Given the description of an element on the screen output the (x, y) to click on. 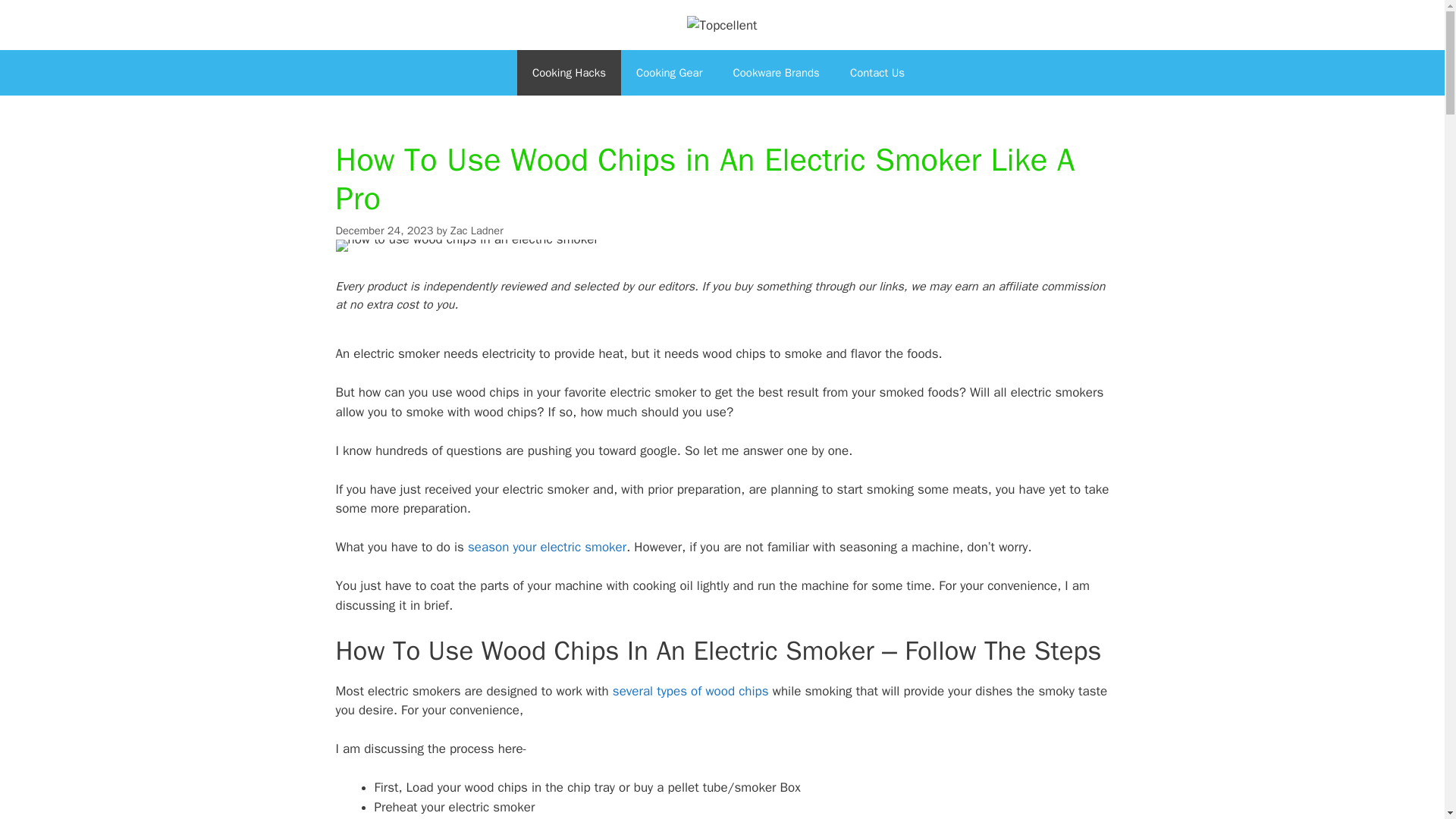
Zac Ladner (476, 230)
Cookware Brands (775, 72)
Cooking Gear (669, 72)
Cooking Hacks (568, 72)
several types of wood chips (690, 691)
season your electric smoker (546, 546)
View all posts by Zac Ladner (476, 230)
Contact Us (880, 72)
